Given the description of an element on the screen output the (x, y) to click on. 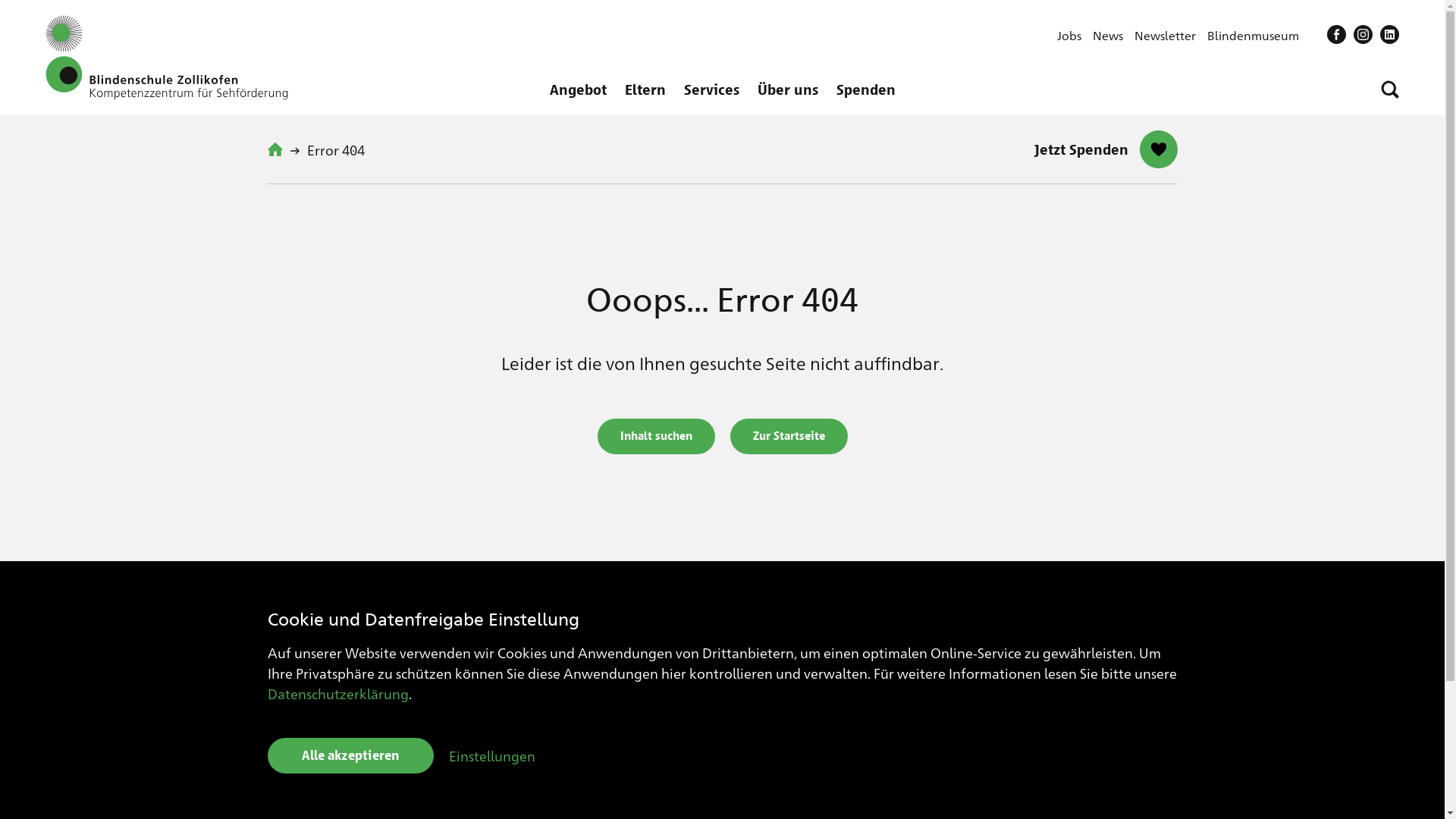
Suche Element type: hover (1389, 89)
News Element type: text (1107, 35)
Blindenmuseum Element type: text (1252, 35)
Blindenschule Zollikofen Element type: hover (166, 57)
Error 404 Element type: text (338, 148)
Einstellungen Element type: text (491, 755)
Alle akzeptieren Element type: text (349, 755)
Jetzt Spenden Element type: text (1105, 149)
Angebot Element type: text (577, 89)
Newsletter Element type: text (1164, 35)
Impressum Element type: text (1364, 774)
Zur Startseite Element type: text (788, 436)
Eltern Element type: text (644, 89)
Services Element type: text (711, 89)
Spenden Element type: text (864, 89)
Inhalt suchen Element type: text (656, 436)
Jobs Element type: text (1068, 35)
